Given the description of an element on the screen output the (x, y) to click on. 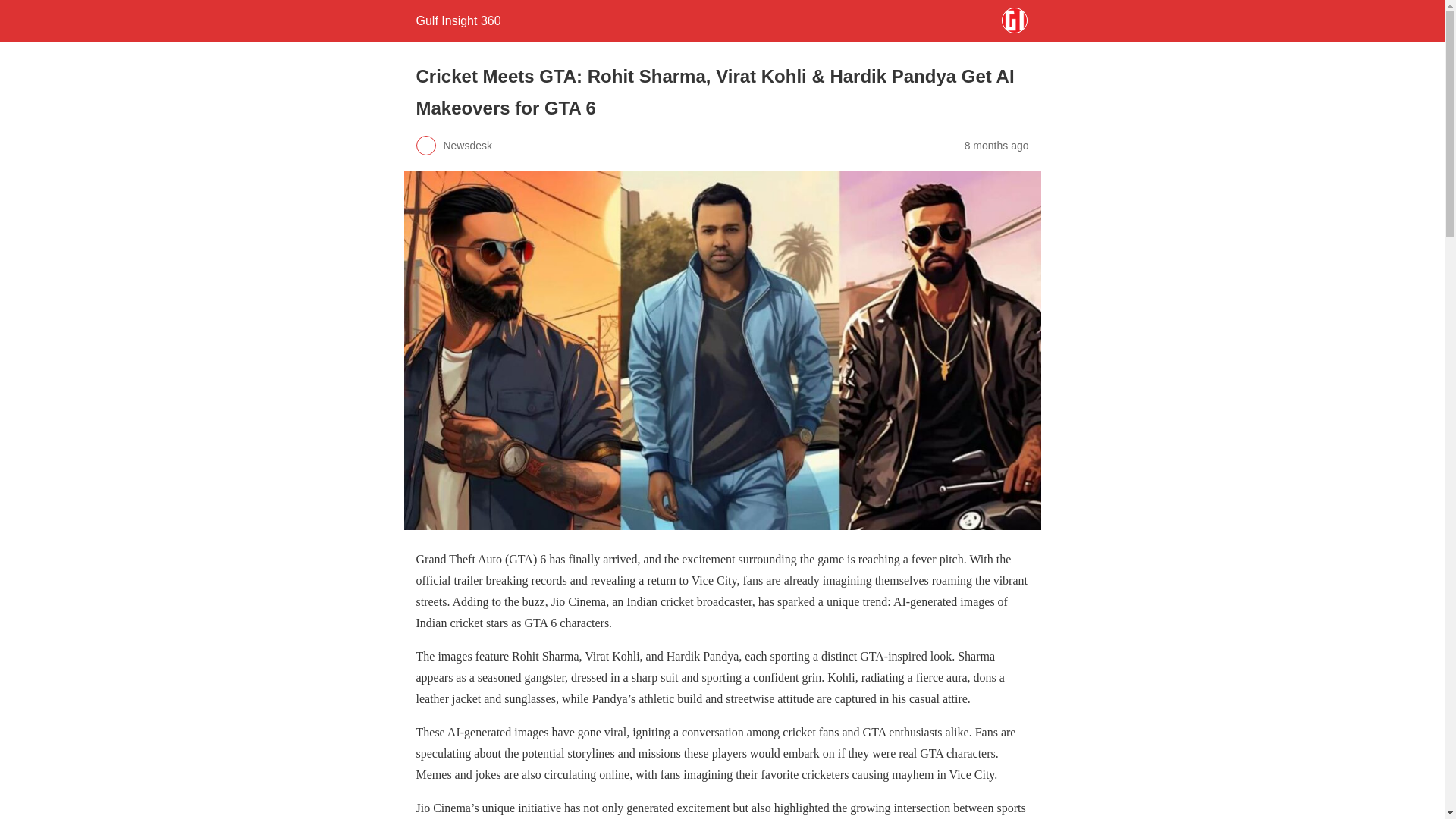
Gulf Insight 360 (457, 20)
